Given the description of an element on the screen output the (x, y) to click on. 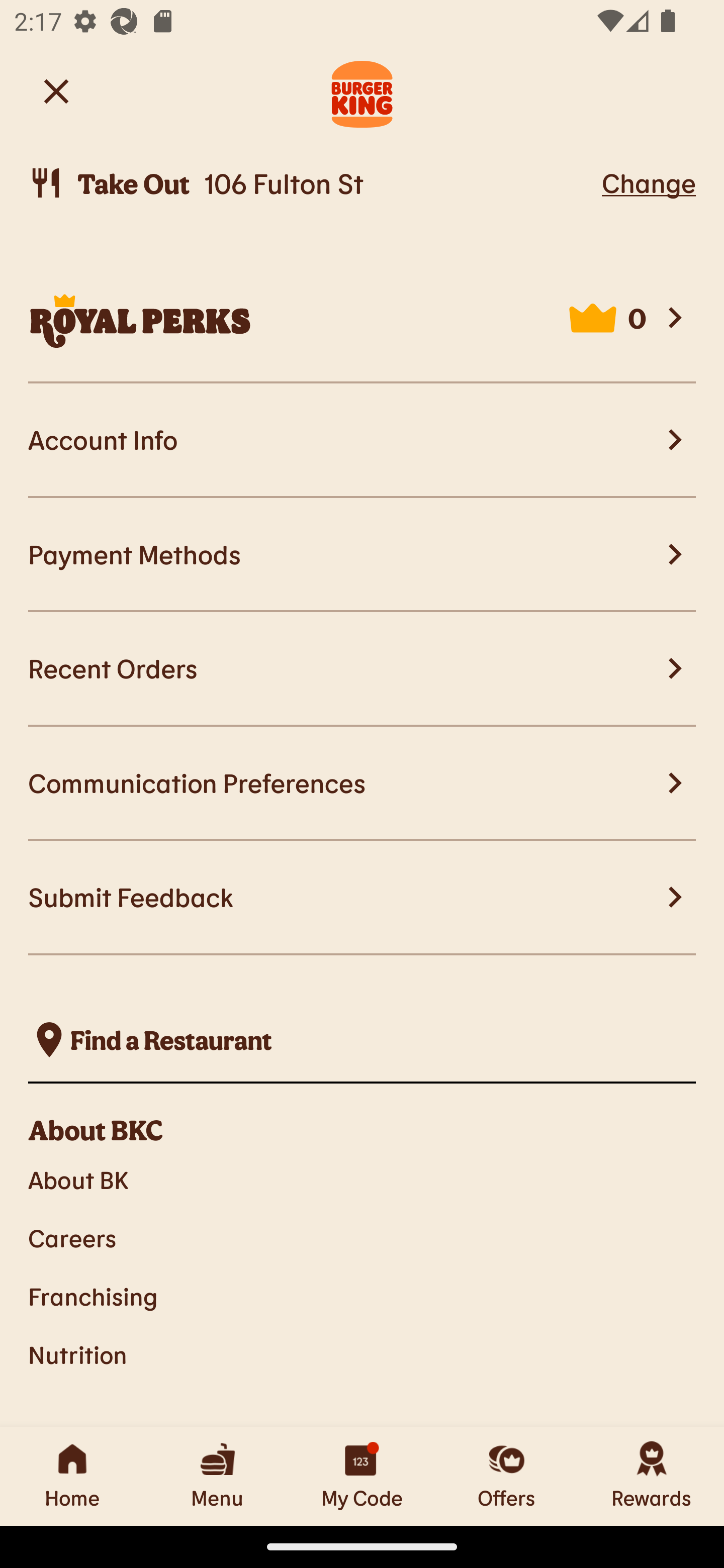
Burger King Logo. Navigate to Home (362, 91)
Back  (56, 90)
Take Out, 106 Fulton St  Take Out 106 Fulton St (311, 183)
Change (648, 182)
Account Info Account Info  (361, 441)
Payment Methods Payment Methods  (361, 554)
Recent Orders Recent Orders  (361, 668)
Submit Feedback Submit Feedback  (361, 897)
, Find a Restaurant  Find a Restaurant (361, 1040)
About BK (361, 1178)
Careers (361, 1237)
Franchising (361, 1295)
Nutrition (361, 1354)
Home (72, 1475)
Menu (216, 1475)
My Code (361, 1475)
Offers (506, 1475)
Rewards (651, 1475)
